Given the description of an element on the screen output the (x, y) to click on. 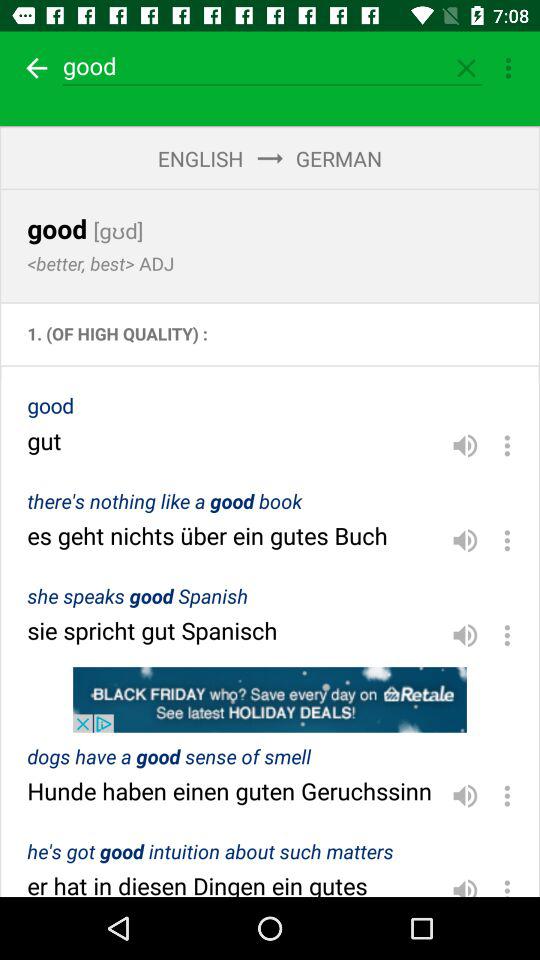
go to closed (466, 68)
